Given the description of an element on the screen output the (x, y) to click on. 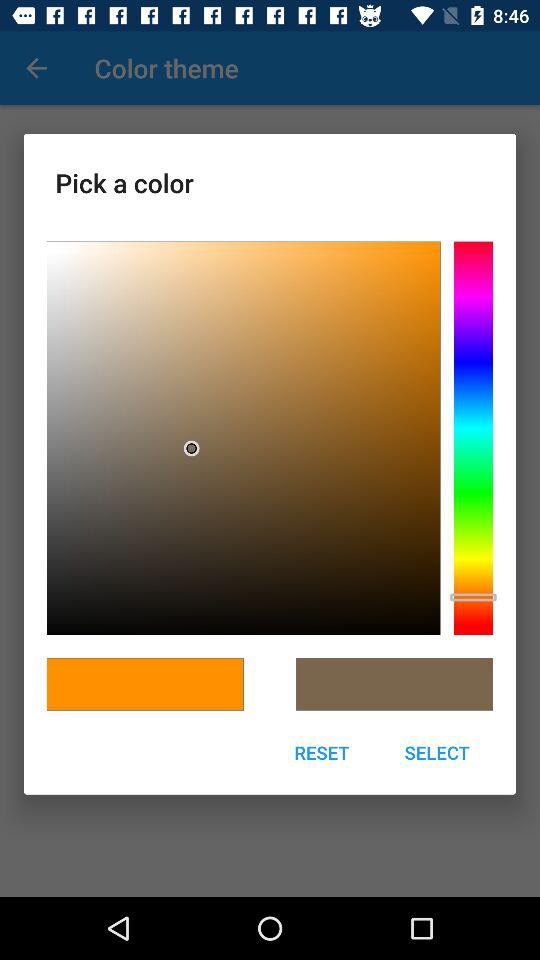
turn off reset item (321, 752)
